Given the description of an element on the screen output the (x, y) to click on. 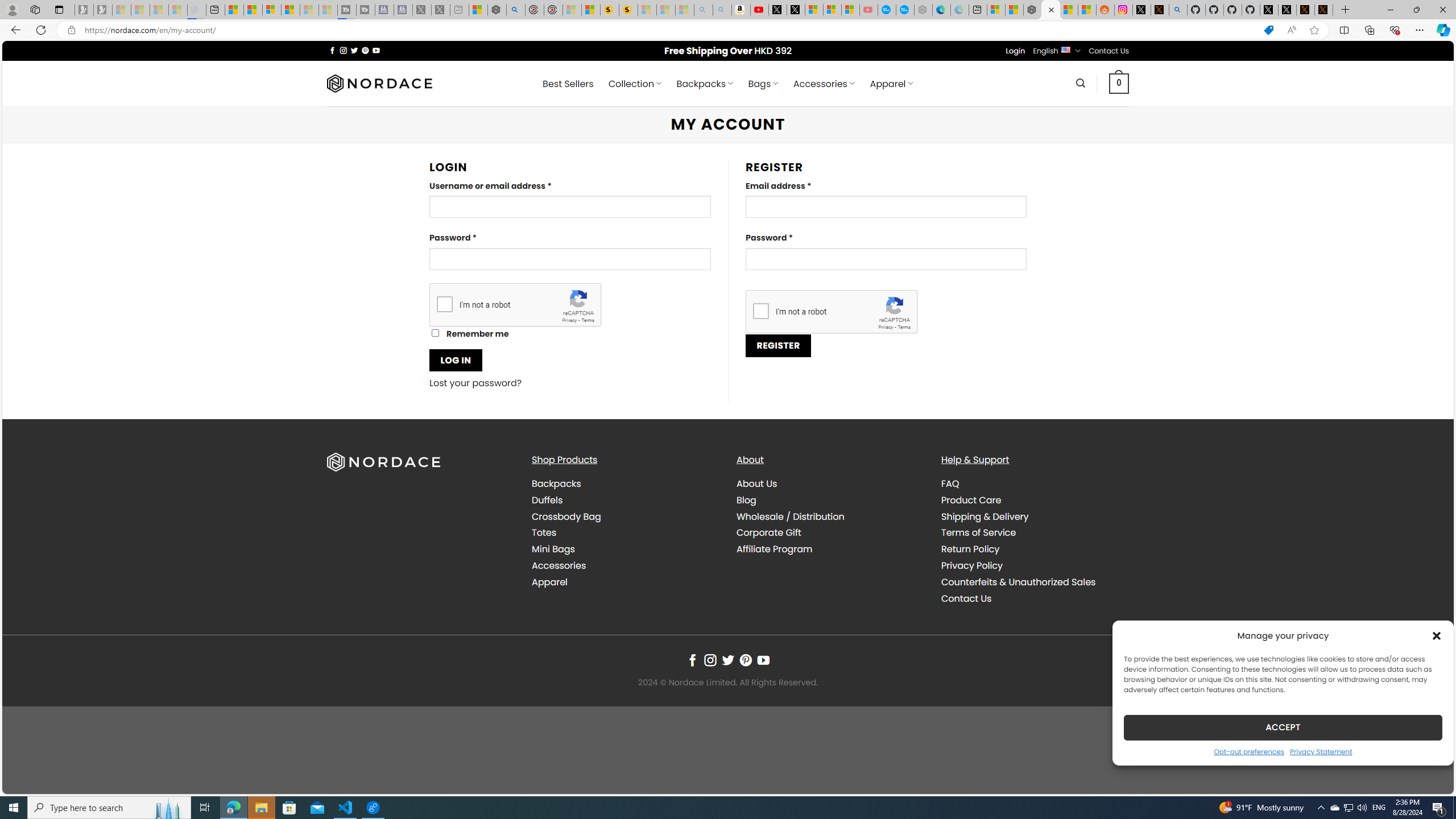
Overview (271, 9)
Remember me (434, 333)
Corporate Gift (768, 532)
About Us (830, 483)
Wholesale / Distribution (830, 516)
Opt-out preferences (1249, 750)
Terms of Service (1034, 532)
Profile / X (1268, 9)
Corporate Gift (830, 532)
